Given the description of an element on the screen output the (x, y) to click on. 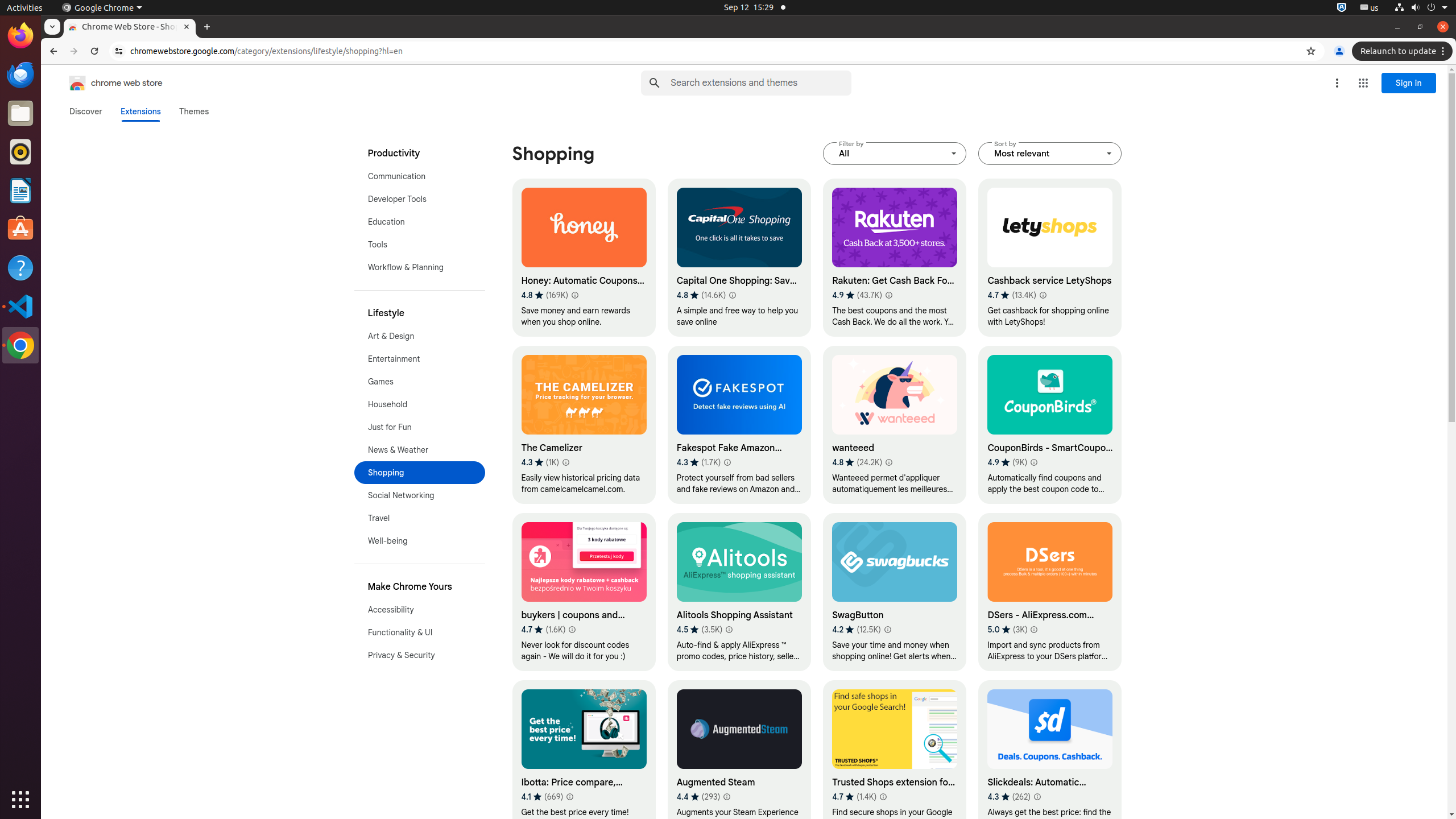
Tools Element type: menu-item (419, 244)
Functionality & UI Element type: menu-item (419, 632)
Relaunch to update Element type: push-button (1403, 50)
Just for Fun Element type: menu-item (419, 426)
SwagButton Element type: link (894, 592)
